Given the description of an element on the screen output the (x, y) to click on. 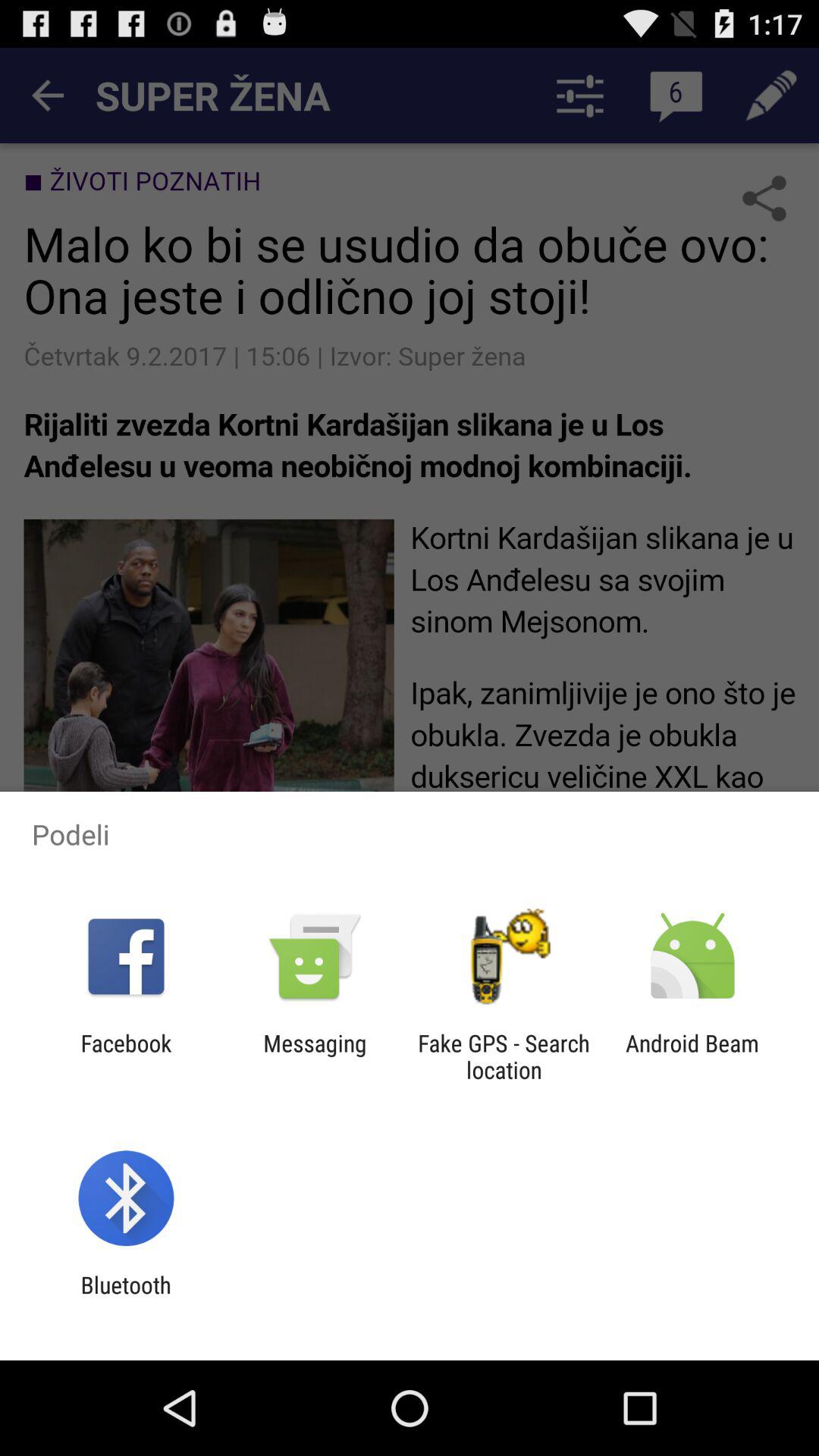
turn on the item to the right of the fake gps search (692, 1056)
